Given the description of an element on the screen output the (x, y) to click on. 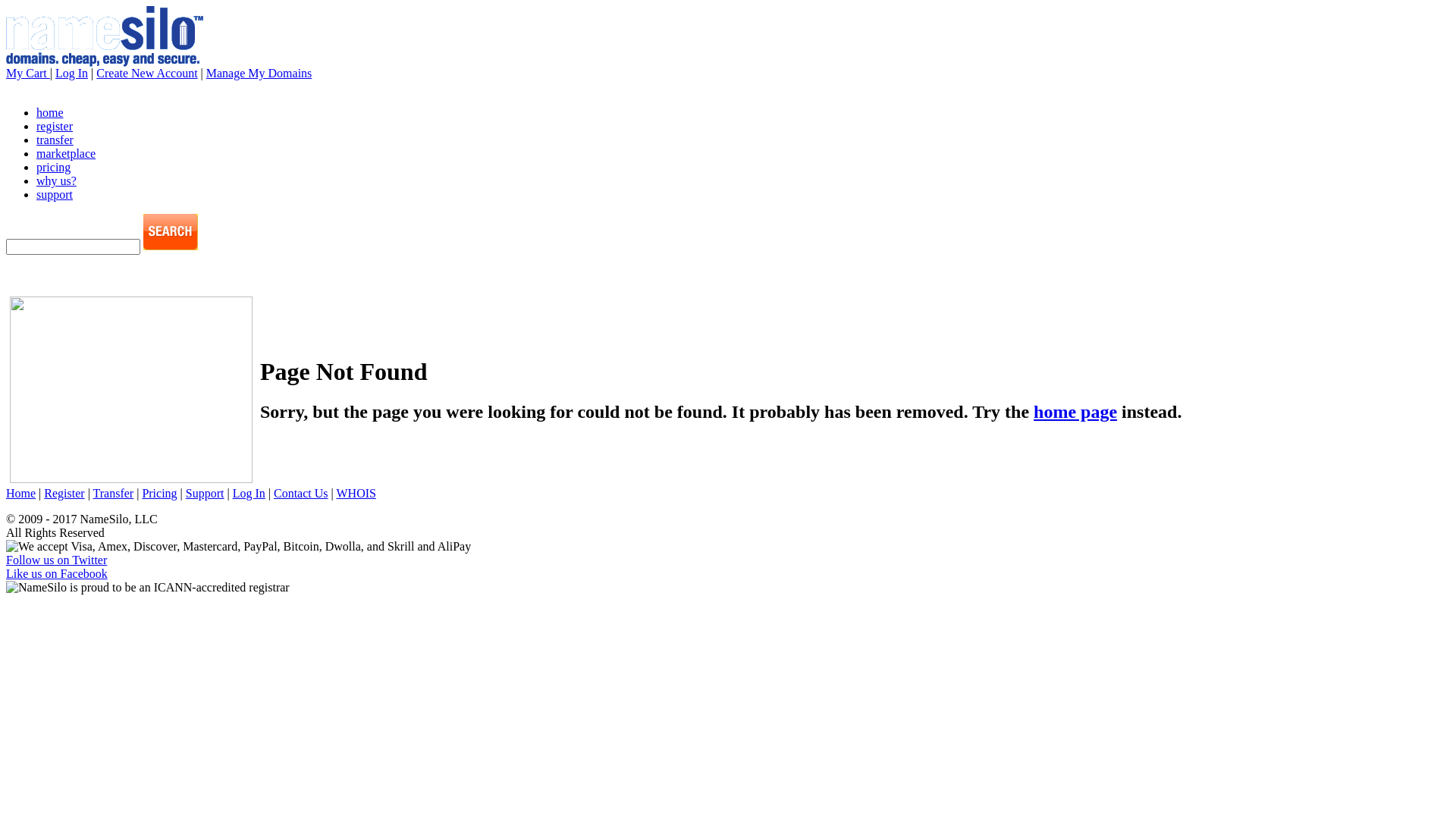
transfer Element type: text (54, 139)
home Element type: text (49, 112)
Home Element type: text (20, 492)
Manage My Domains Element type: text (259, 72)
NameSilo is proud to be an ICANN-accredited registrar Element type: hover (147, 587)
Log In Element type: text (248, 492)
Like us on Facebook Element type: text (56, 573)
Transfer Element type: text (113, 492)
pricing Element type: text (53, 166)
marketplace Element type: text (65, 153)
Register Element type: text (63, 492)
home page Element type: text (1075, 411)
WHOIS Element type: text (355, 492)
Log In Element type: text (71, 72)
why us? Element type: text (56, 180)
Create New Account Element type: text (146, 72)
Contact Us Element type: text (300, 492)
Pricing Element type: text (158, 492)
register Element type: text (54, 125)
Follow us on Twitter Element type: text (56, 559)
My Cart Element type: text (28, 72)
support Element type: text (54, 194)
Support Element type: text (204, 492)
